Given the description of an element on the screen output the (x, y) to click on. 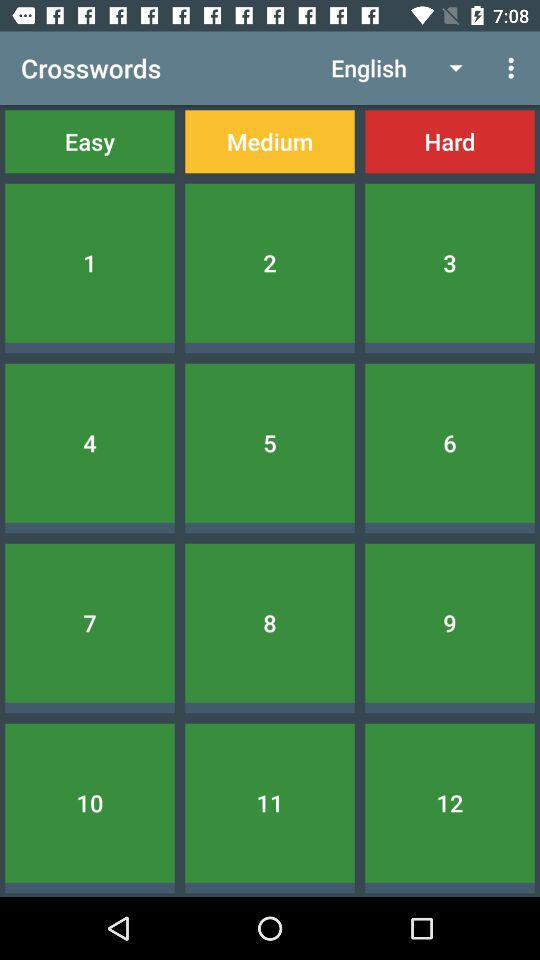
click the 12 item (449, 802)
